Given the description of an element on the screen output the (x, y) to click on. 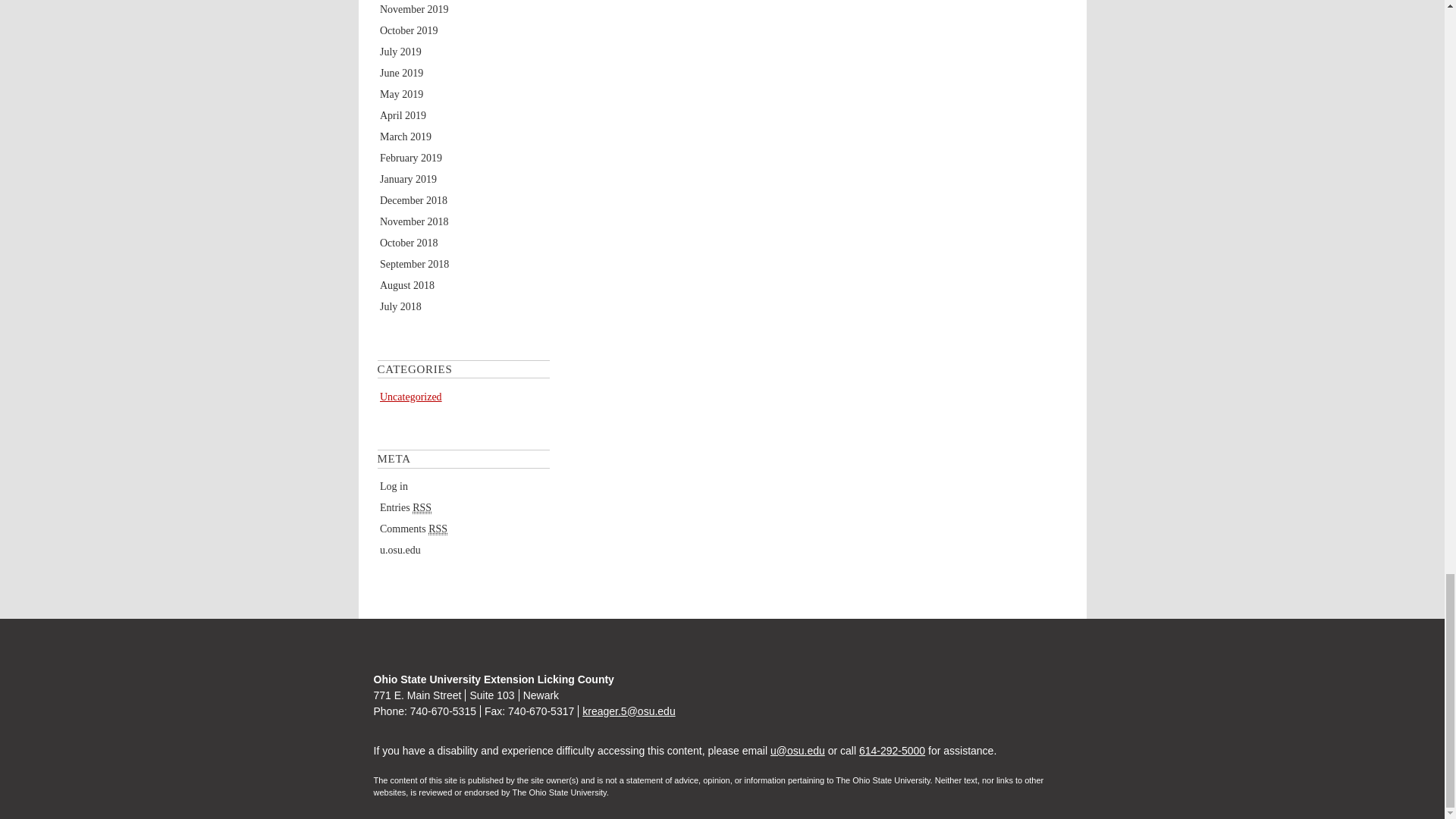
The latest comments to all posts in RSS (413, 529)
Really Simple Syndication (437, 529)
Syndicate this site using RSS 2.0 (405, 508)
Powered by u.osu.edu (400, 550)
Really Simple Syndication (421, 508)
